Given the description of an element on the screen output the (x, y) to click on. 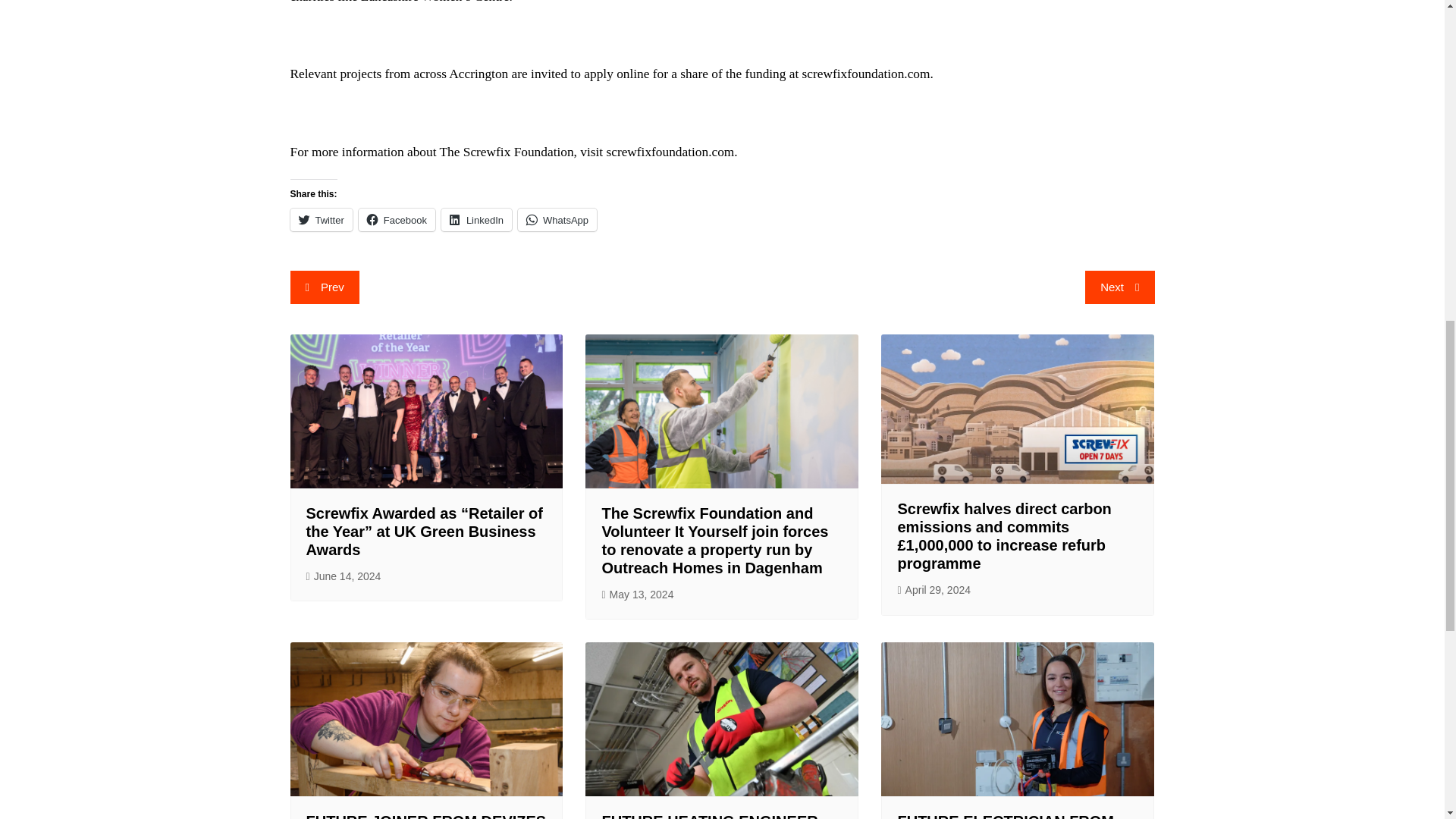
April 29, 2024 (933, 589)
WhatsApp (557, 219)
Click to share on WhatsApp (557, 219)
LinkedIn (476, 219)
Click to share on LinkedIn (476, 219)
Click to share on Twitter (320, 219)
Click to share on Facebook (396, 219)
Twitter (320, 219)
Facebook (396, 219)
May 13, 2024 (636, 594)
June 14, 2024 (343, 576)
Next (1119, 287)
